Given the description of an element on the screen output the (x, y) to click on. 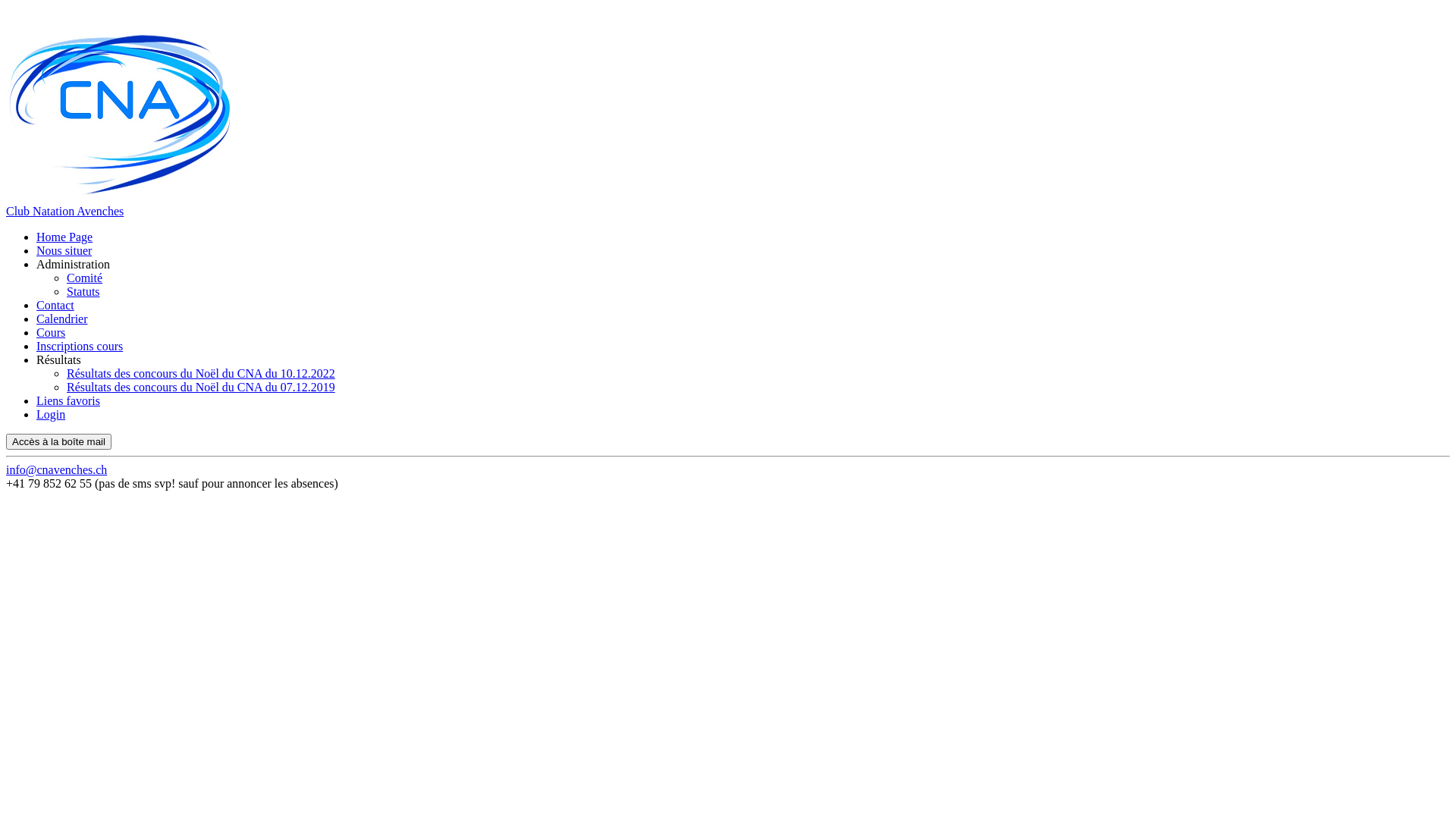
Calendrier Element type: text (61, 318)
Home Page Element type: text (64, 236)
Inscriptions cours Element type: text (79, 345)
Cours Element type: text (50, 332)
Liens favoris Element type: text (68, 400)
info@cnavenches.ch Element type: text (56, 469)
Login Element type: text (50, 413)
Statuts Element type: text (83, 291)
Club Natation Avenches Element type: text (64, 210)
Contact Element type: text (55, 304)
Nous situer Element type: text (63, 250)
